Given the description of an element on the screen output the (x, y) to click on. 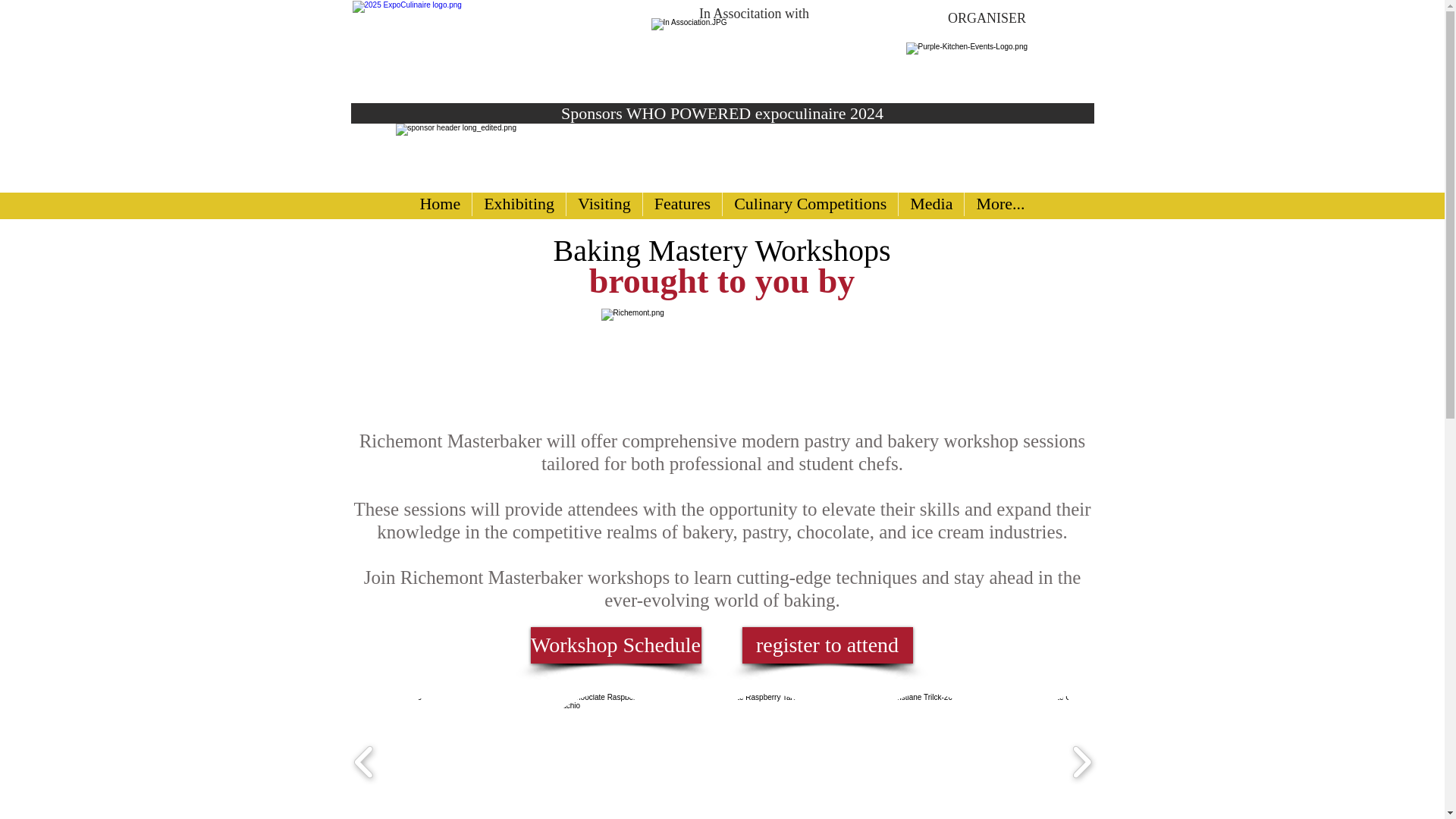
Home (439, 205)
Features (682, 205)
register to attend (826, 645)
